Given the description of an element on the screen output the (x, y) to click on. 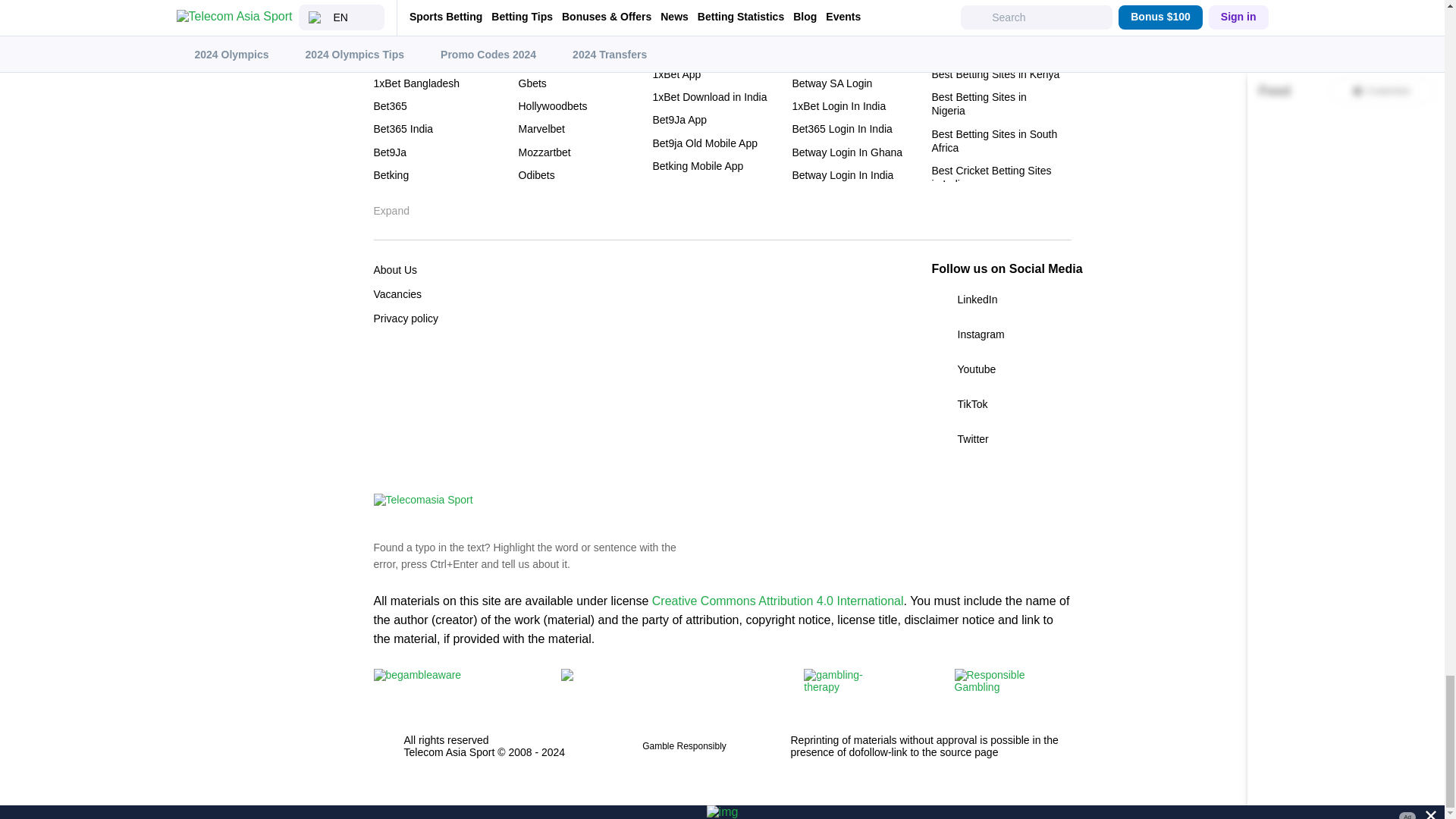
TikTok (1000, 403)
Instagram (1000, 334)
Youtube (1000, 369)
LinkedIn (1000, 299)
